Given the description of an element on the screen output the (x, y) to click on. 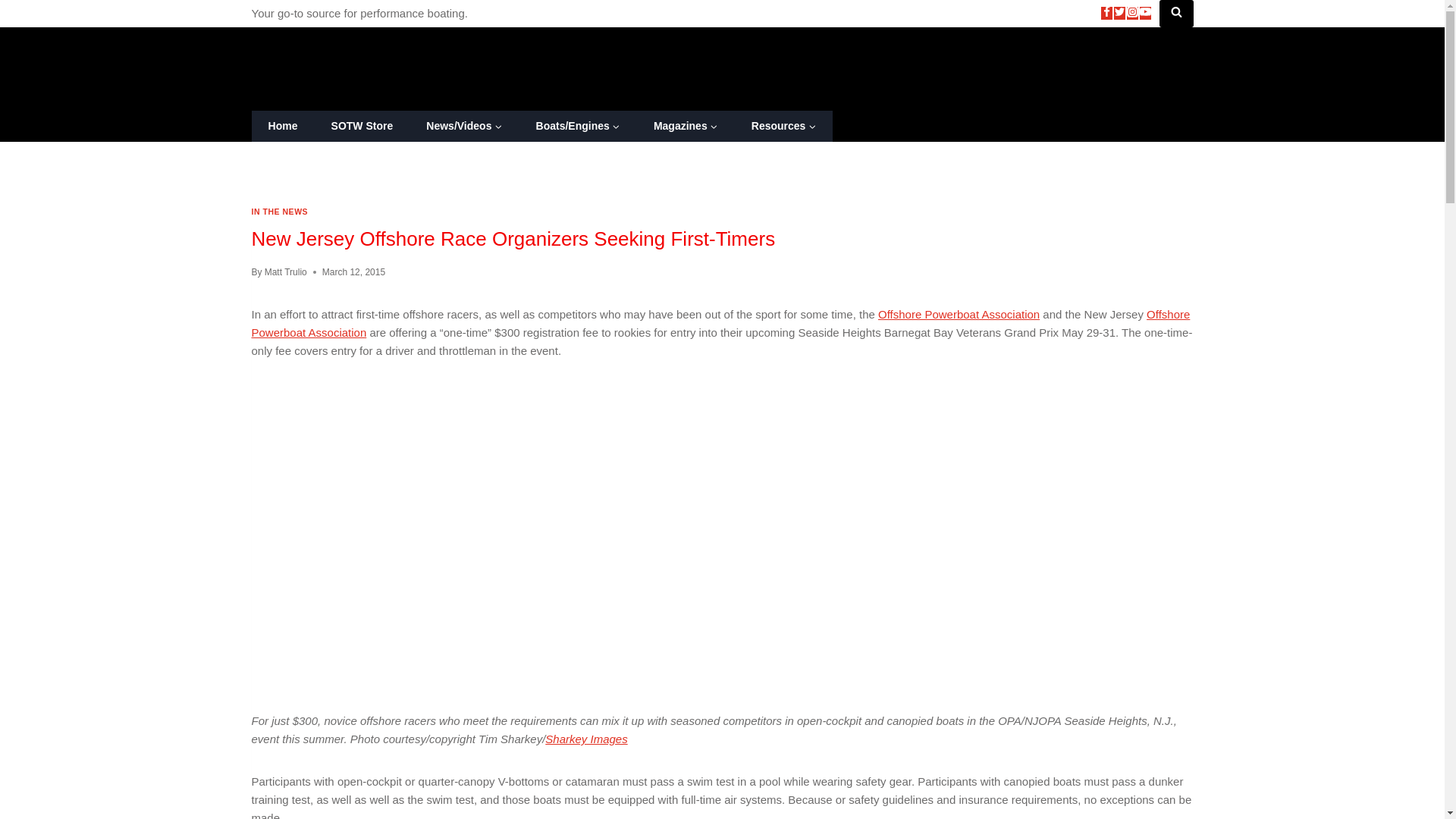
Home (282, 125)
Magazines (686, 125)
Resources (783, 125)
SOTW Store (361, 125)
Offshore Powerboat Association (721, 323)
